Given the description of an element on the screen output the (x, y) to click on. 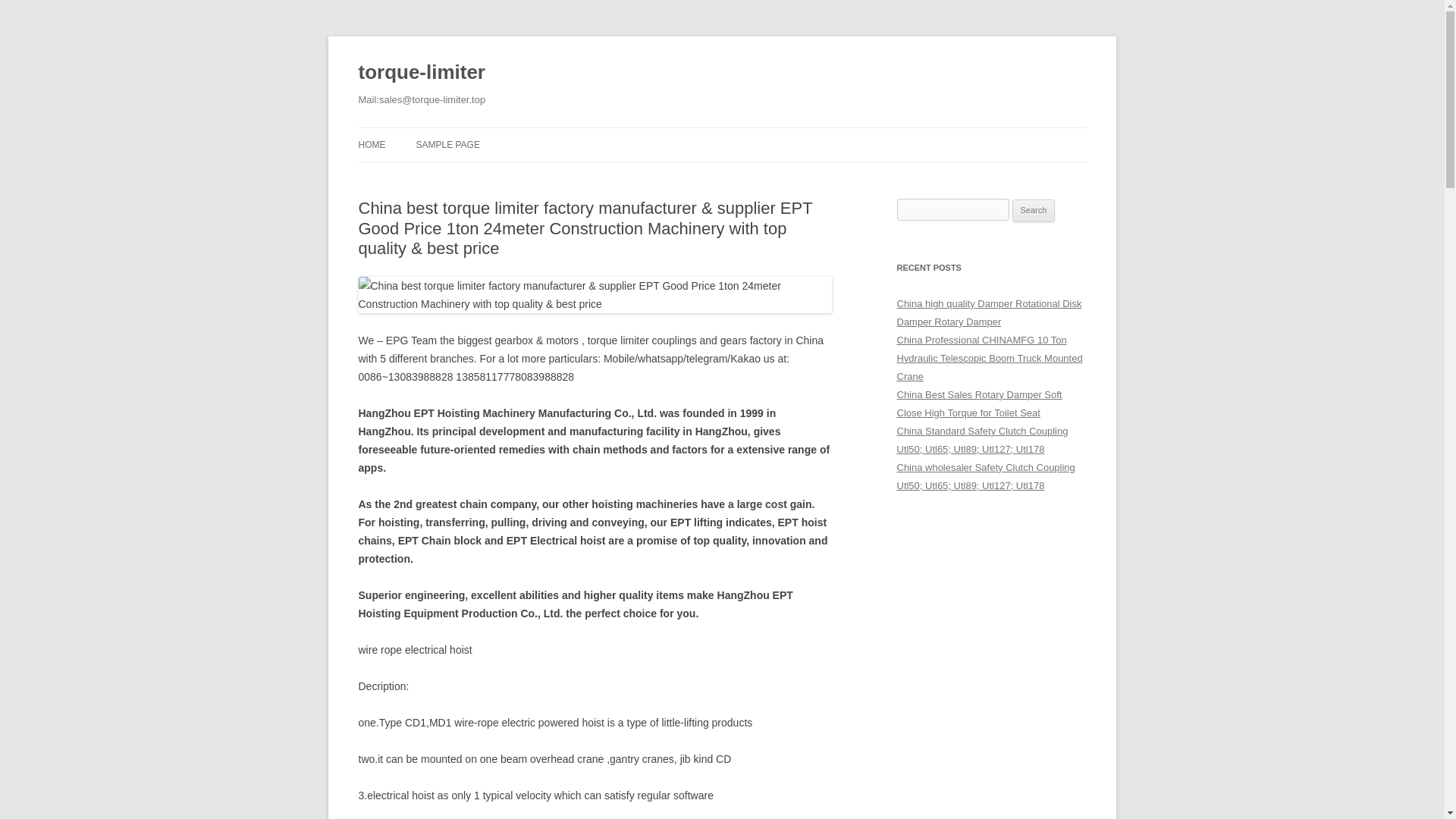
torque-limiter (421, 72)
Search (1033, 210)
SAMPLE PAGE (446, 144)
Search (1033, 210)
